Given the description of an element on the screen output the (x, y) to click on. 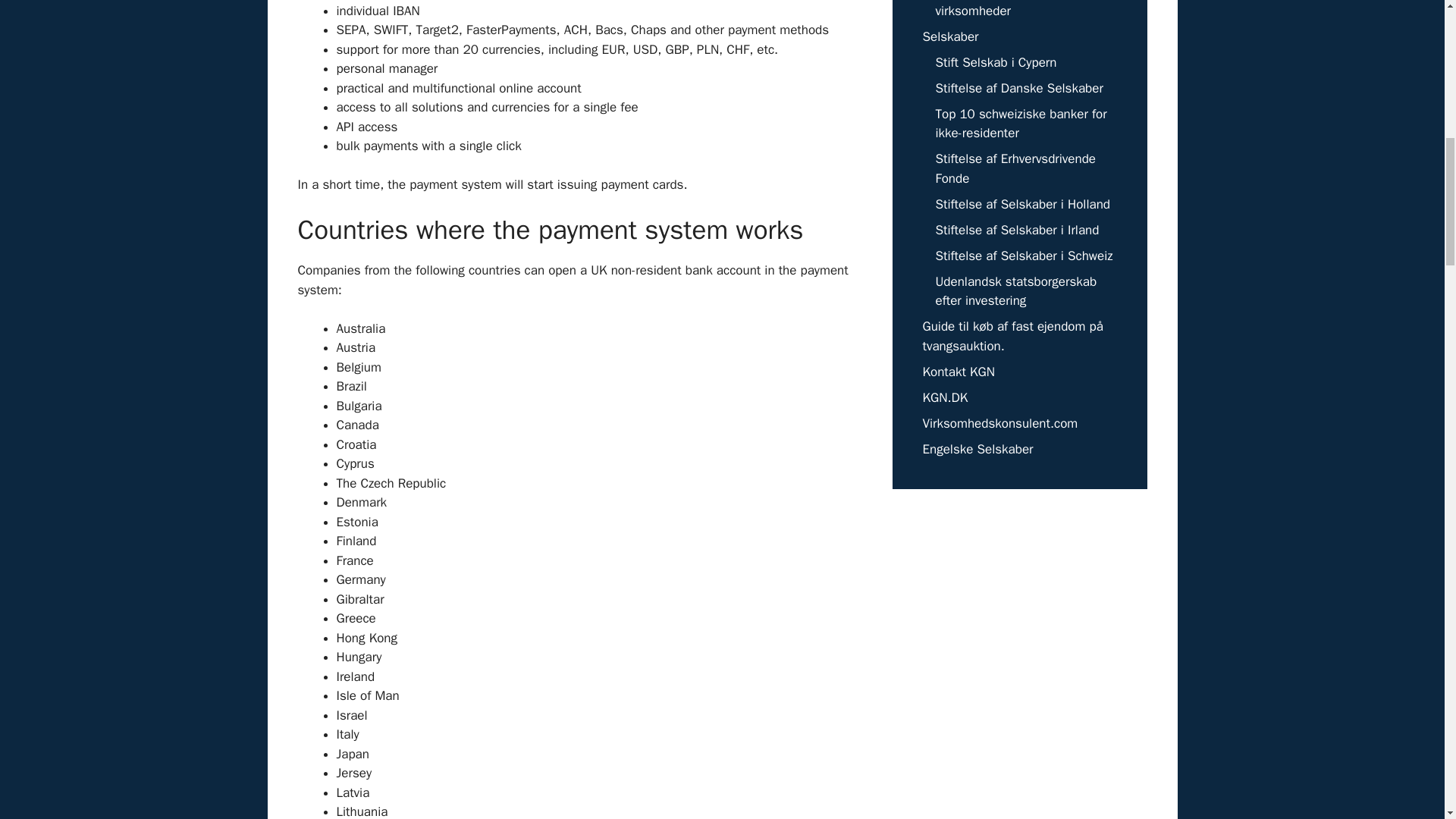
Stiftelse af Danske Selskaber (1019, 88)
Udenlandsk statsborgerskab efter investering (1016, 290)
Selskaber (949, 36)
Stiftelse af Selskaber i Holland (1023, 203)
Stiftelse af Erhvervsdrivende Fonde (1016, 168)
Stift Selskab i Cypern (996, 62)
Stiftelse af Selskaber i Irland (1017, 229)
Stiftelse af Selskaber i Schweiz (1024, 254)
Top 10 schweiziske banker for ikke-residenter (1021, 123)
